Given the description of an element on the screen output the (x, y) to click on. 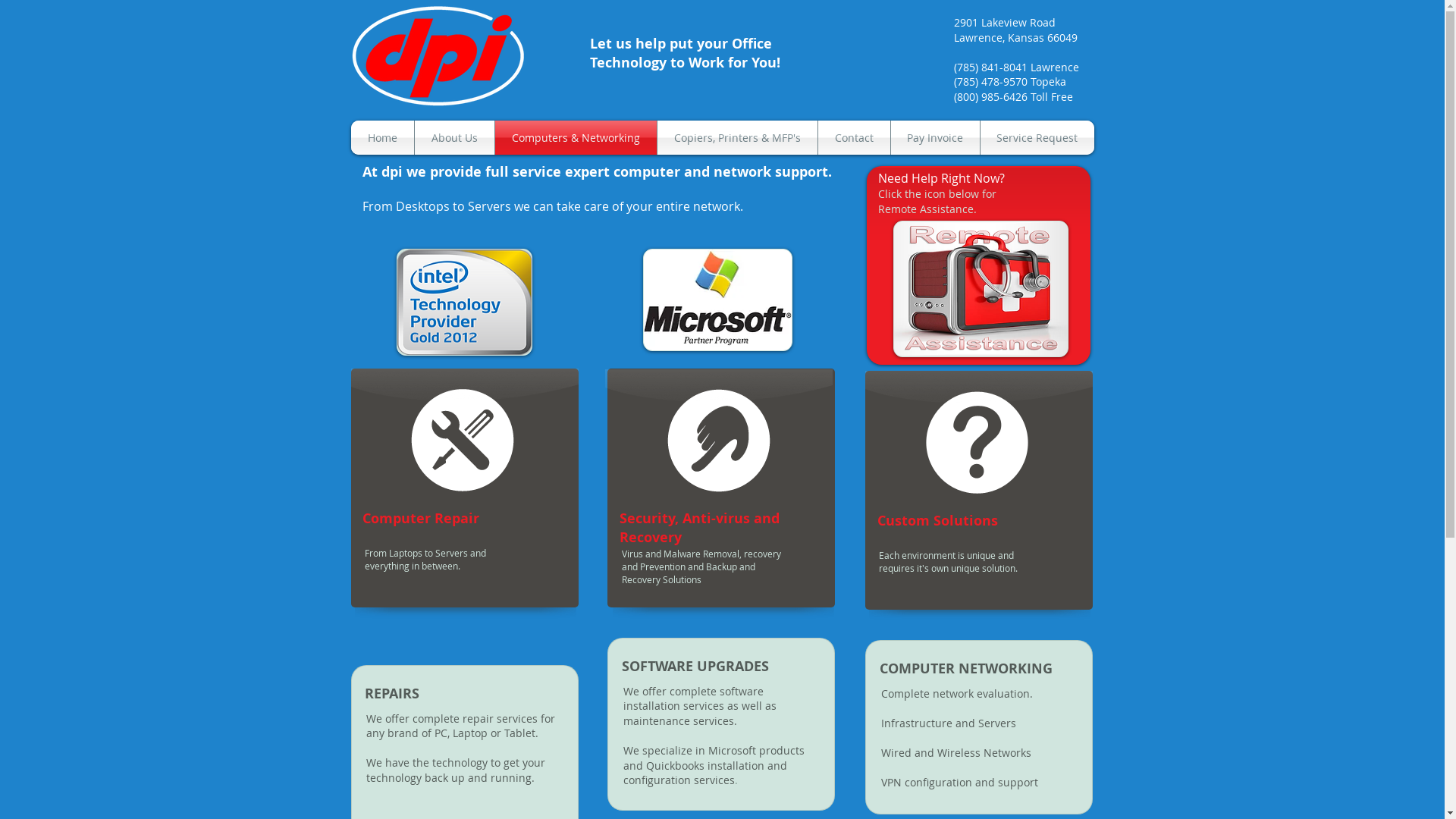
Service Request Element type: text (1036, 137)
About Us Element type: text (453, 137)
Pay Invoice Element type: text (934, 137)
Contact Element type: text (853, 137)
Copiers, Printers & MFP's Element type: text (736, 137)
Home Element type: text (381, 137)
Computers & Networking Element type: text (574, 137)
